Given the description of an element on the screen output the (x, y) to click on. 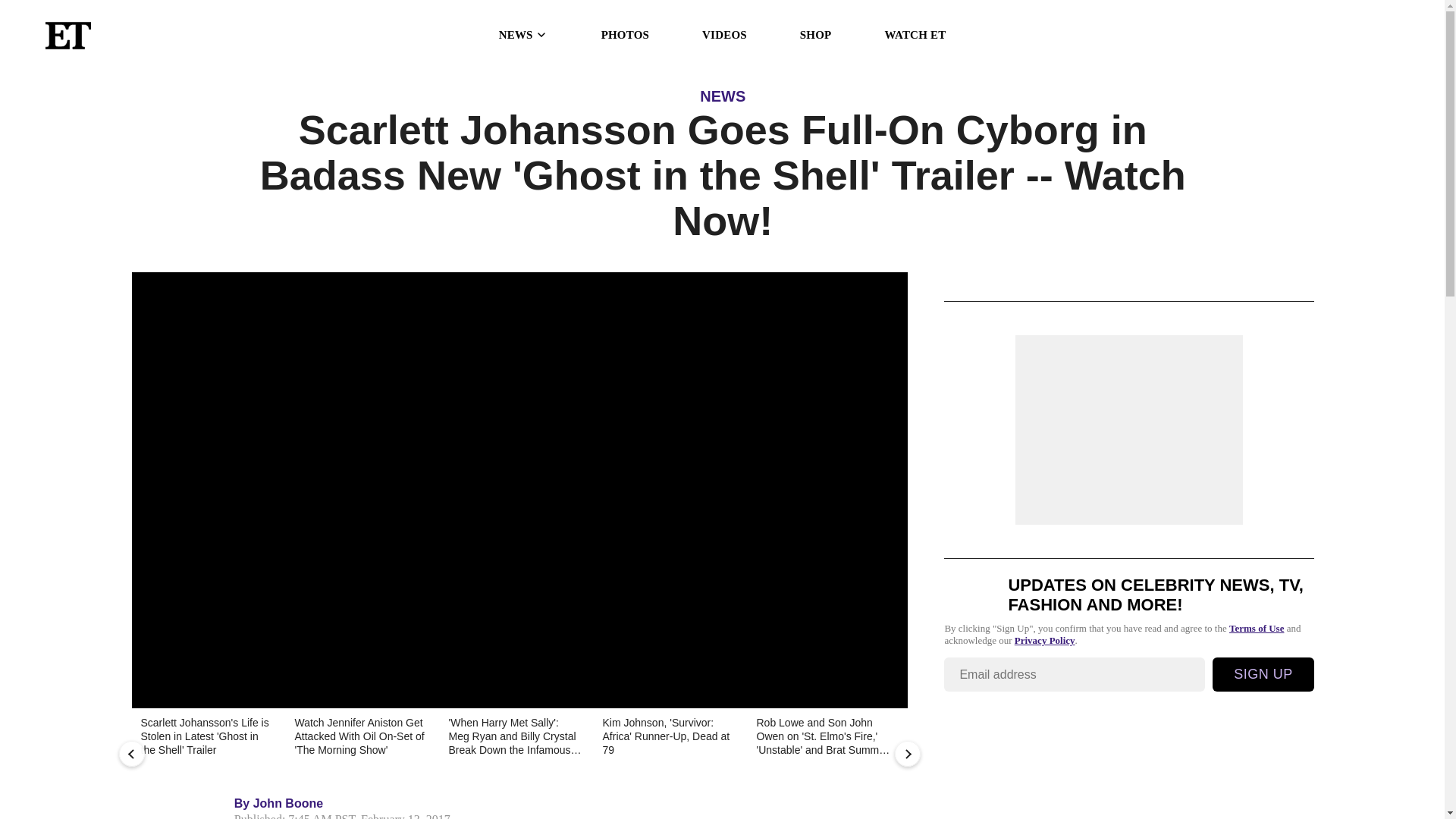
Kim Johnson, 'Survivor: Africa' Runner-Up, Dead at 79 (668, 737)
VIDEOS (723, 34)
SHOP (815, 34)
WATCH ET (913, 34)
NEWS (523, 34)
NEWS (722, 95)
PHOTOS (625, 34)
